Given the description of an element on the screen output the (x, y) to click on. 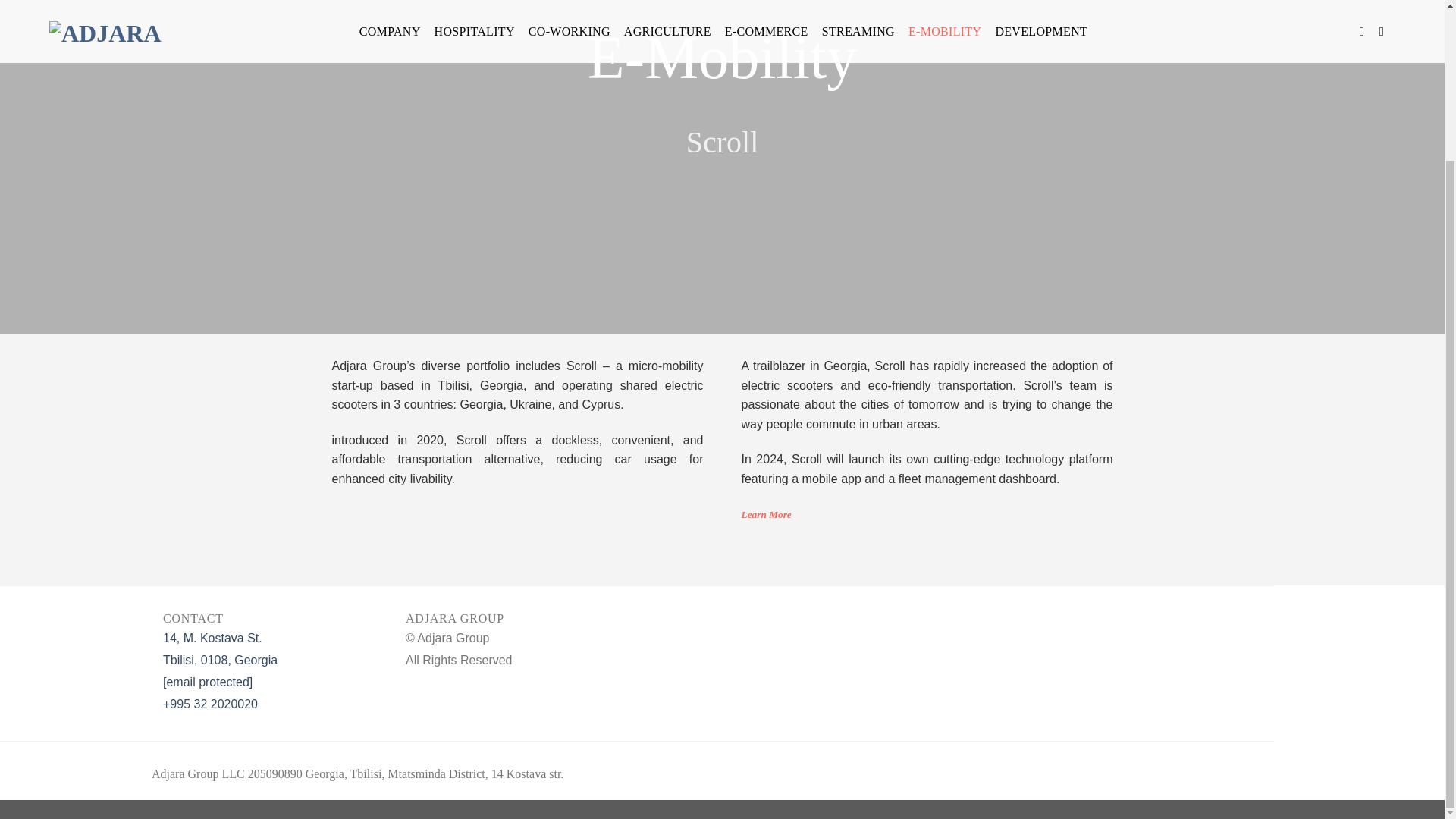
Learn More (766, 514)
14, M. Kostava St. (212, 637)
Tbilisi, 0108, Georgia (220, 659)
